Given the description of an element on the screen output the (x, y) to click on. 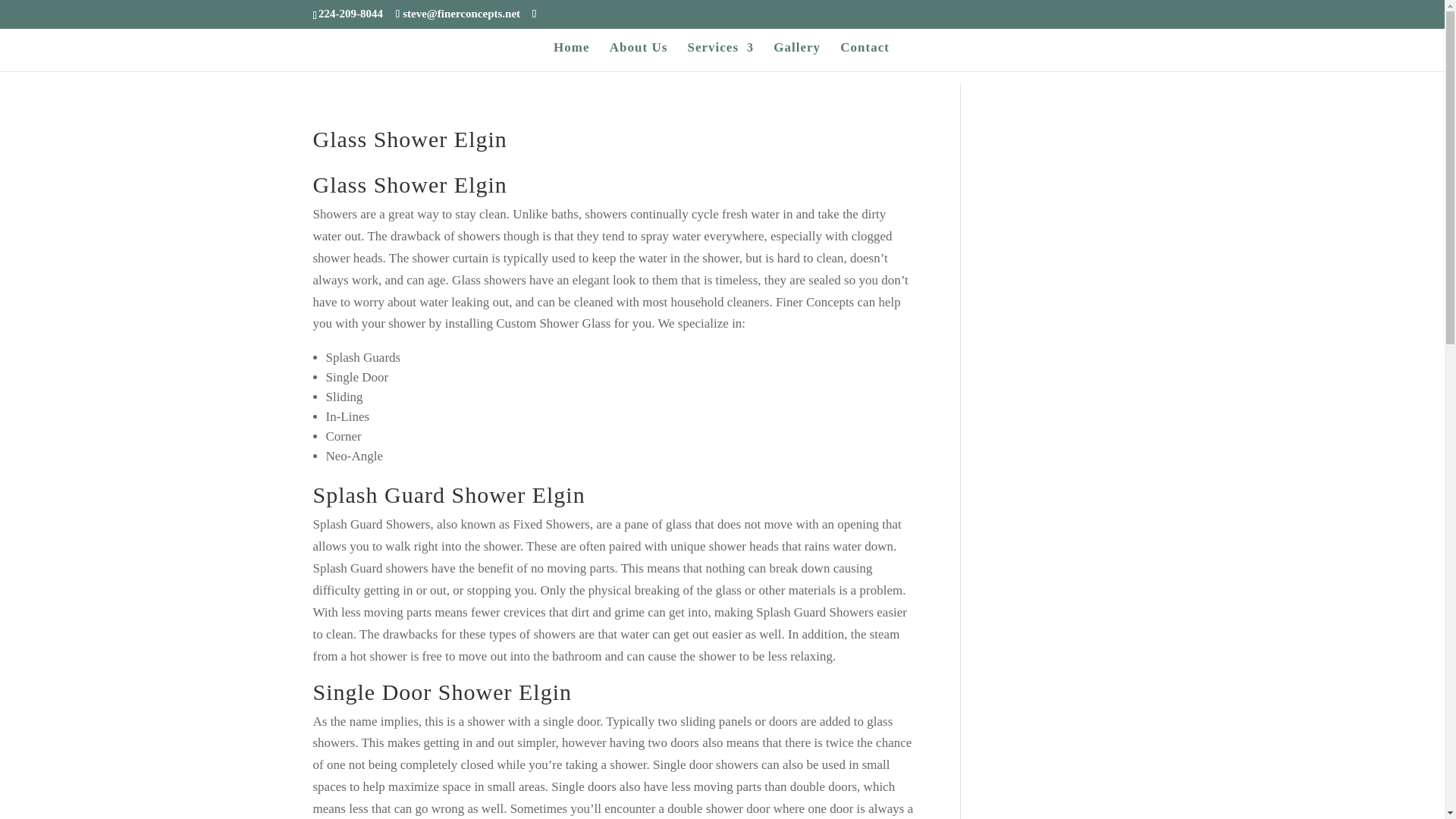
Services (720, 56)
About Us (639, 56)
Home (571, 56)
Contact (864, 56)
Gallery (797, 56)
